Given the description of an element on the screen output the (x, y) to click on. 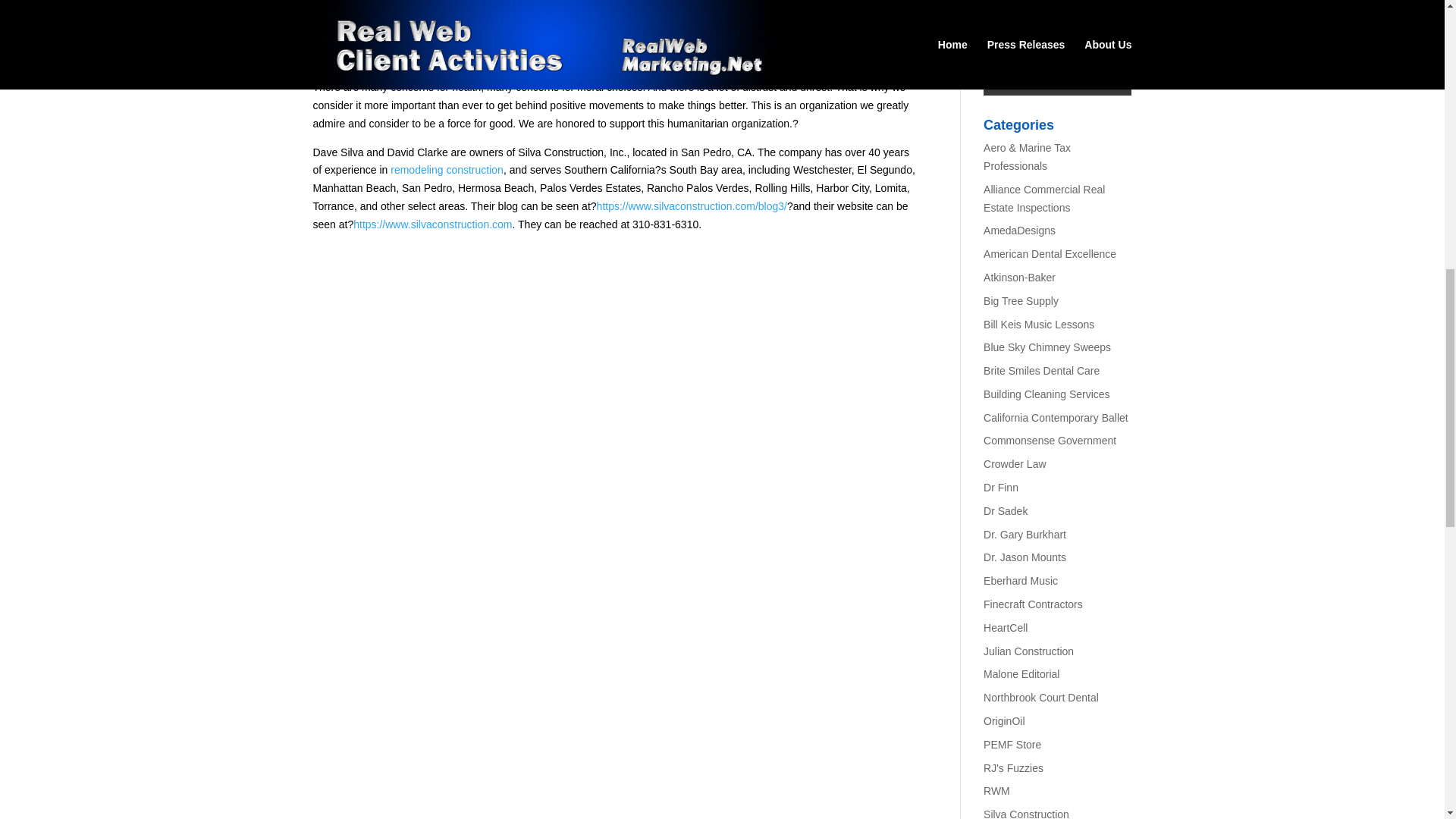
American Dental Excellence (1050, 254)
remodeling construction (446, 169)
Alliance Commercial Real Estate Inspections (1044, 198)
Building Cleaning Services (1046, 394)
Crowder Law (1014, 463)
Dr. Gary Burkhart (1024, 534)
AWeber Email Marketing (1057, 33)
Malone Editorial (1021, 674)
Commonsense Government (1050, 440)
AmedaDesigns (1019, 230)
Brite Smiles Dental Care (1041, 370)
Dr. Jason Mounts (1024, 557)
Big Tree Supply (1021, 300)
Julian Construction (1029, 651)
HeartCell (1005, 627)
